Given the description of an element on the screen output the (x, y) to click on. 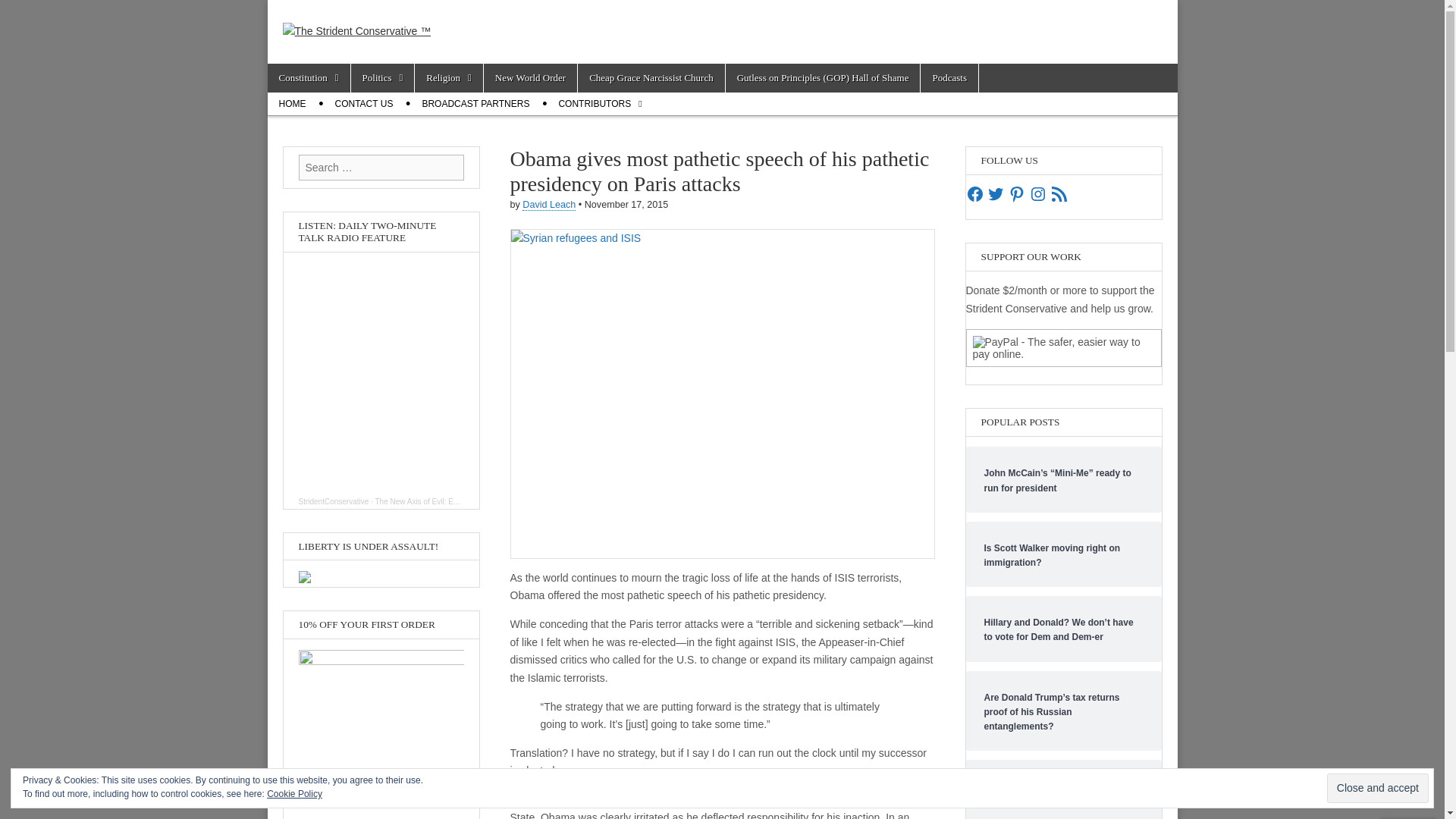
Constitution (307, 77)
StridentConservative (333, 501)
Posts by David Leach (548, 204)
Politics (382, 77)
Close and accept (1377, 788)
